Given the description of an element on the screen output the (x, y) to click on. 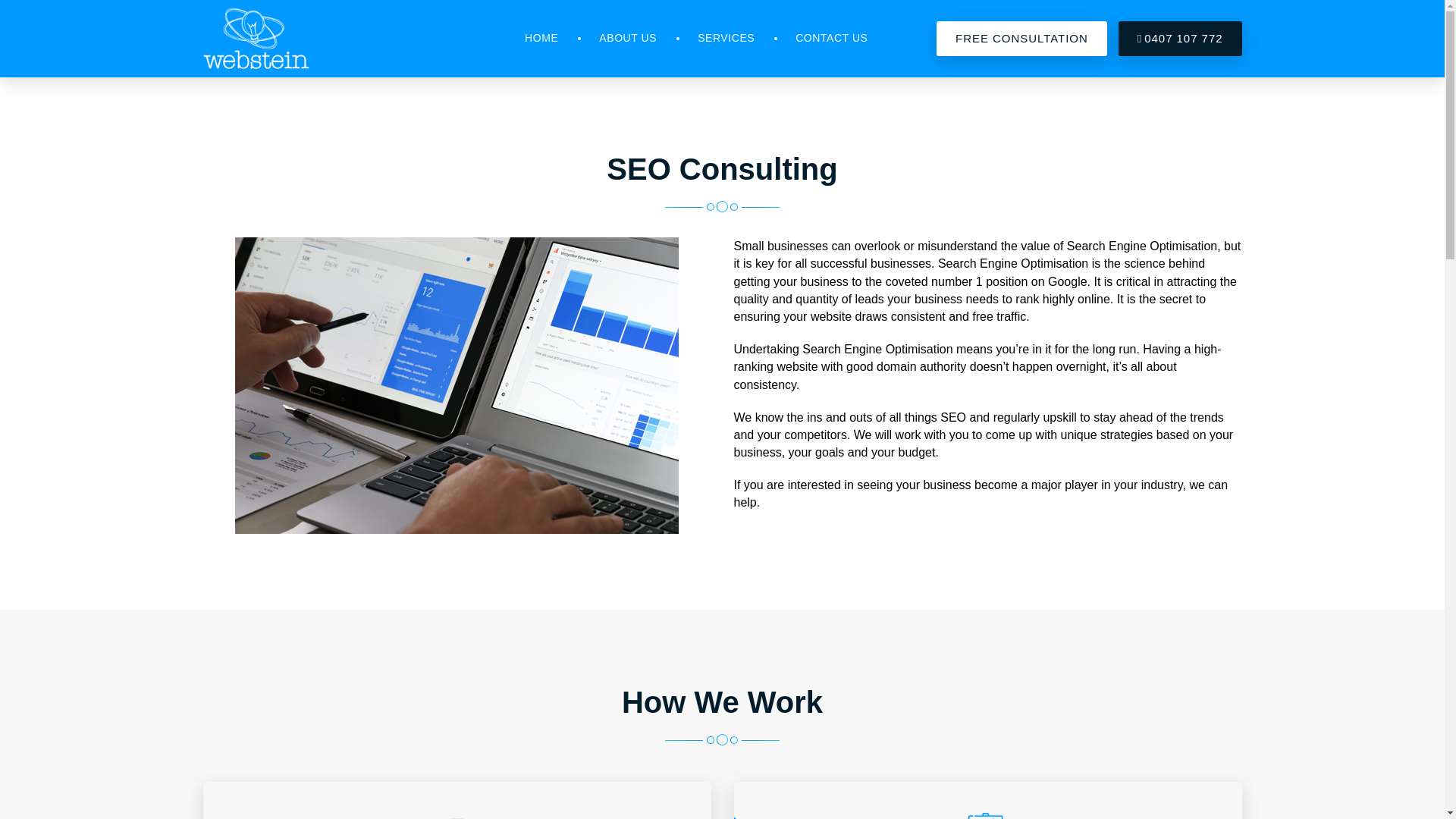
CONTACT US (830, 38)
seo (456, 385)
ABOUT US (627, 38)
SERVICES (725, 38)
FREE CONSULTATION (1021, 38)
0407 107 772 (1179, 38)
